Given the description of an element on the screen output the (x, y) to click on. 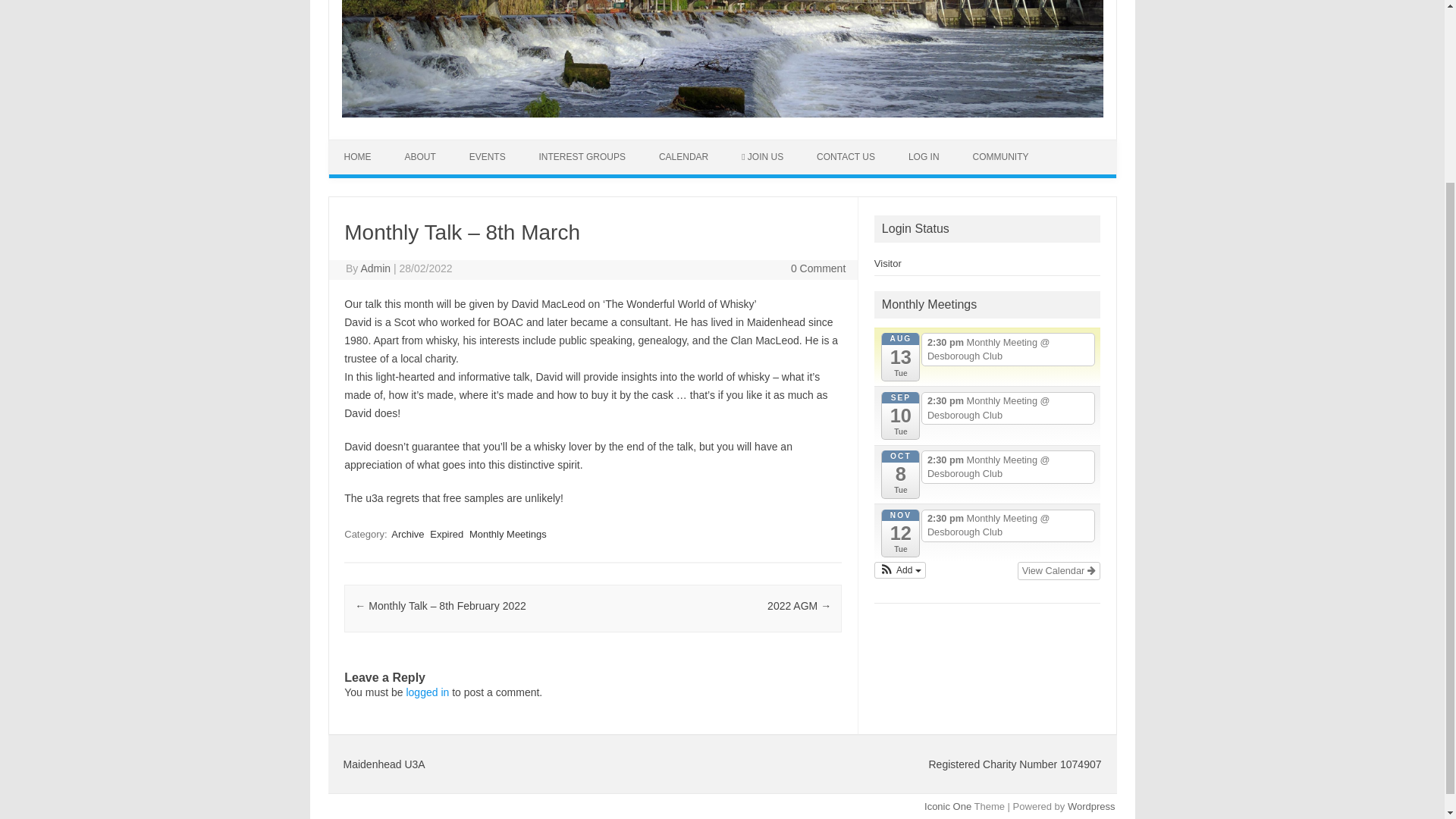
Expired (446, 534)
Monthly Meetings (507, 534)
COMMUNITY (999, 156)
Archive (407, 534)
LOG IN (924, 156)
INTEREST GROUPS (582, 156)
JOIN US (761, 156)
Admin (374, 268)
EVENTS (487, 156)
Maidenhead U3A Website (721, 113)
